Given the description of an element on the screen output the (x, y) to click on. 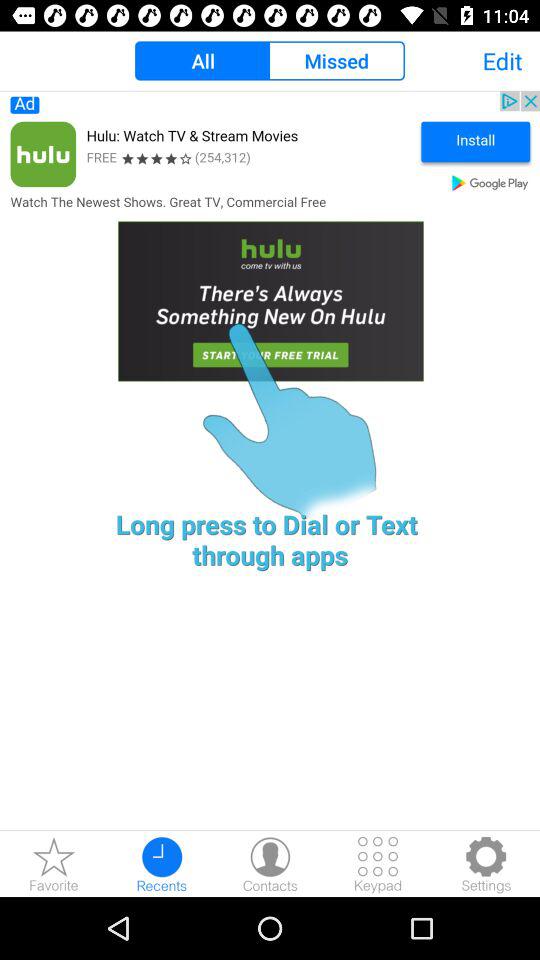
start using hulu app (270, 255)
